Given the description of an element on the screen output the (x, y) to click on. 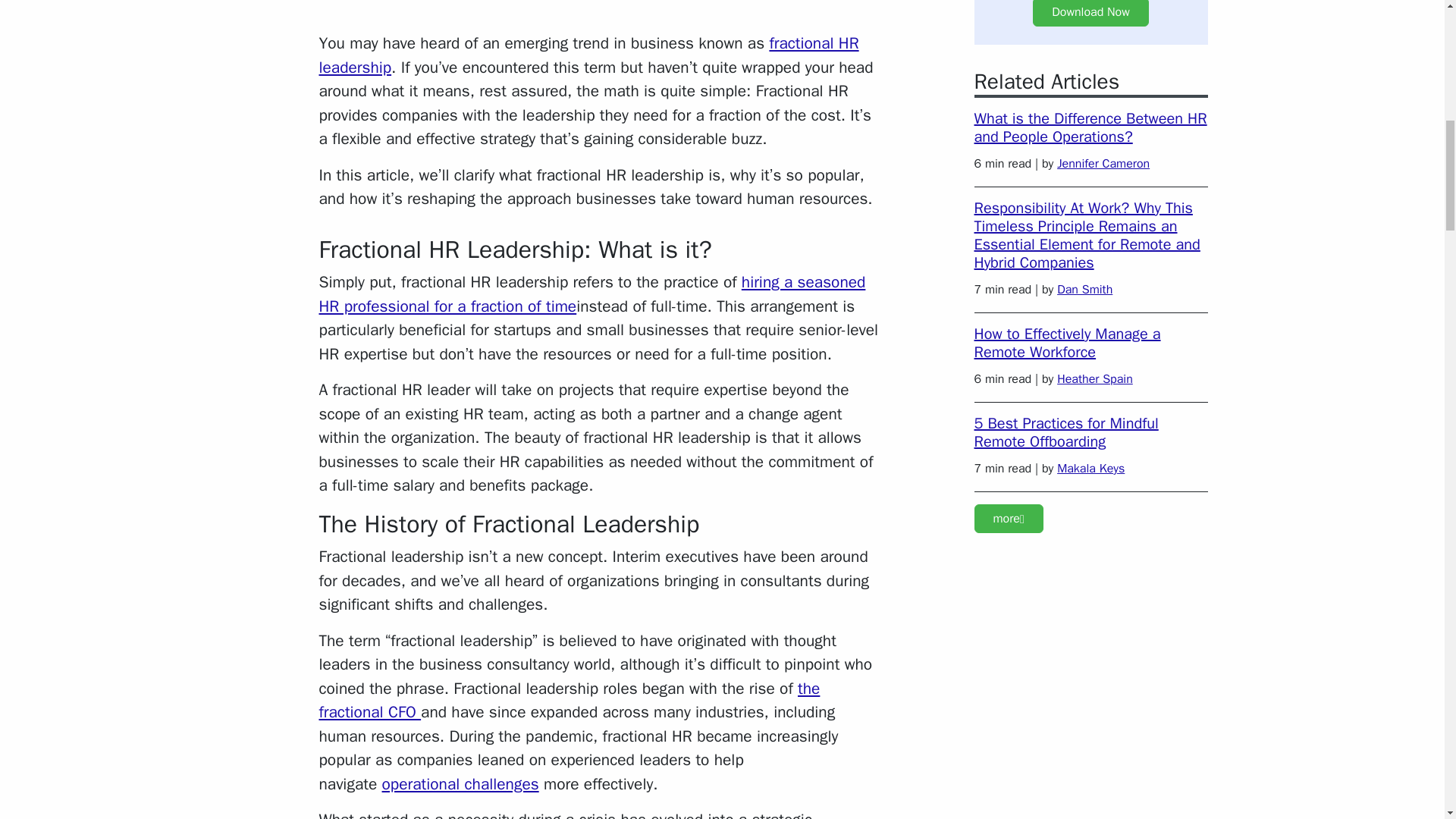
View user profile. (1103, 163)
operational challenges (459, 783)
hiring a seasoned HR professional for a fraction of time (591, 293)
fractional HR leadership (588, 54)
View user profile. (1084, 289)
View user profile. (1094, 378)
the fractional CFO  (568, 700)
View user profile. (1090, 468)
